Given the description of an element on the screen output the (x, y) to click on. 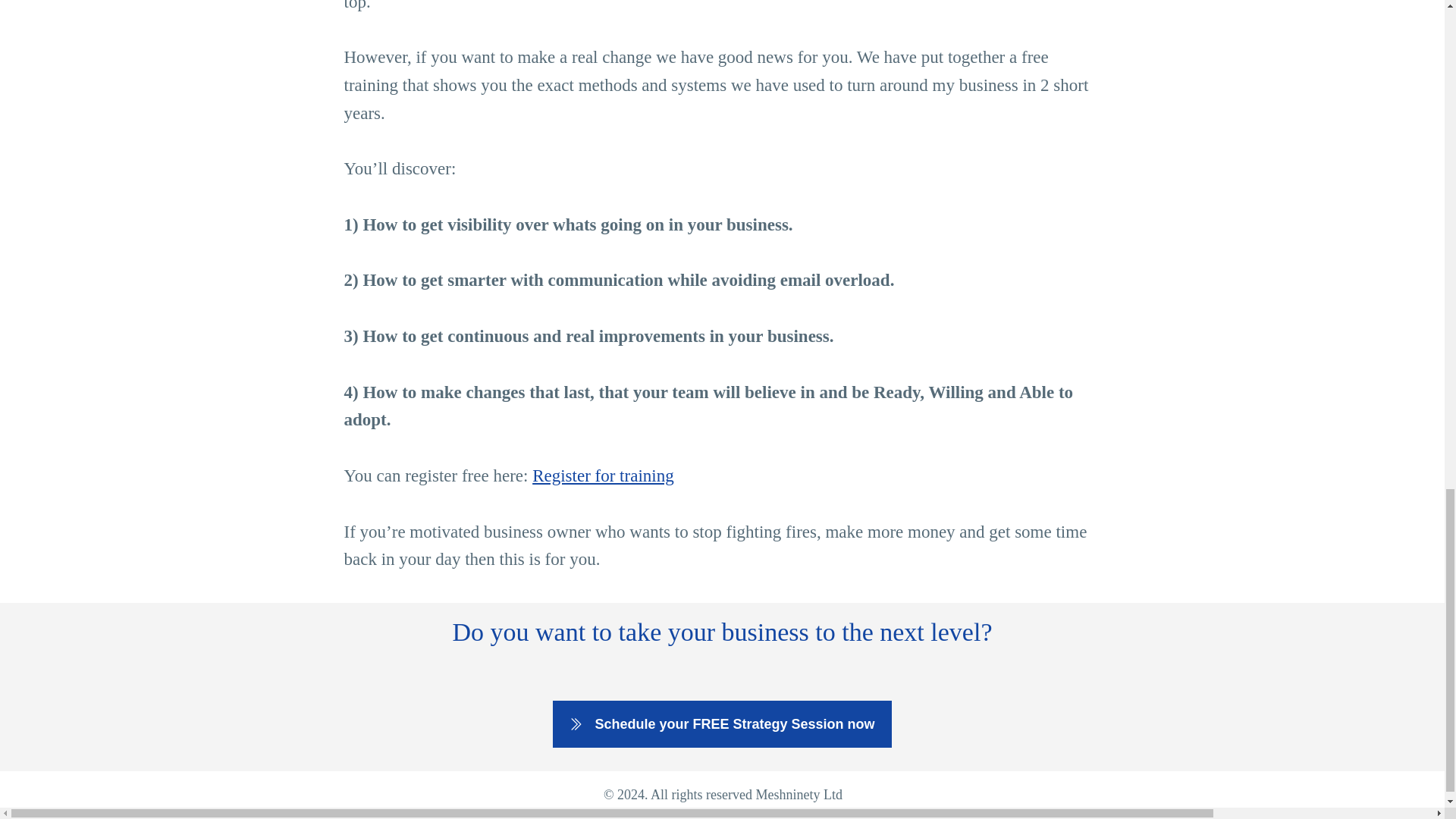
Schedule your FREE Strategy Session now (722, 724)
Register for training (603, 475)
